Given the description of an element on the screen output the (x, y) to click on. 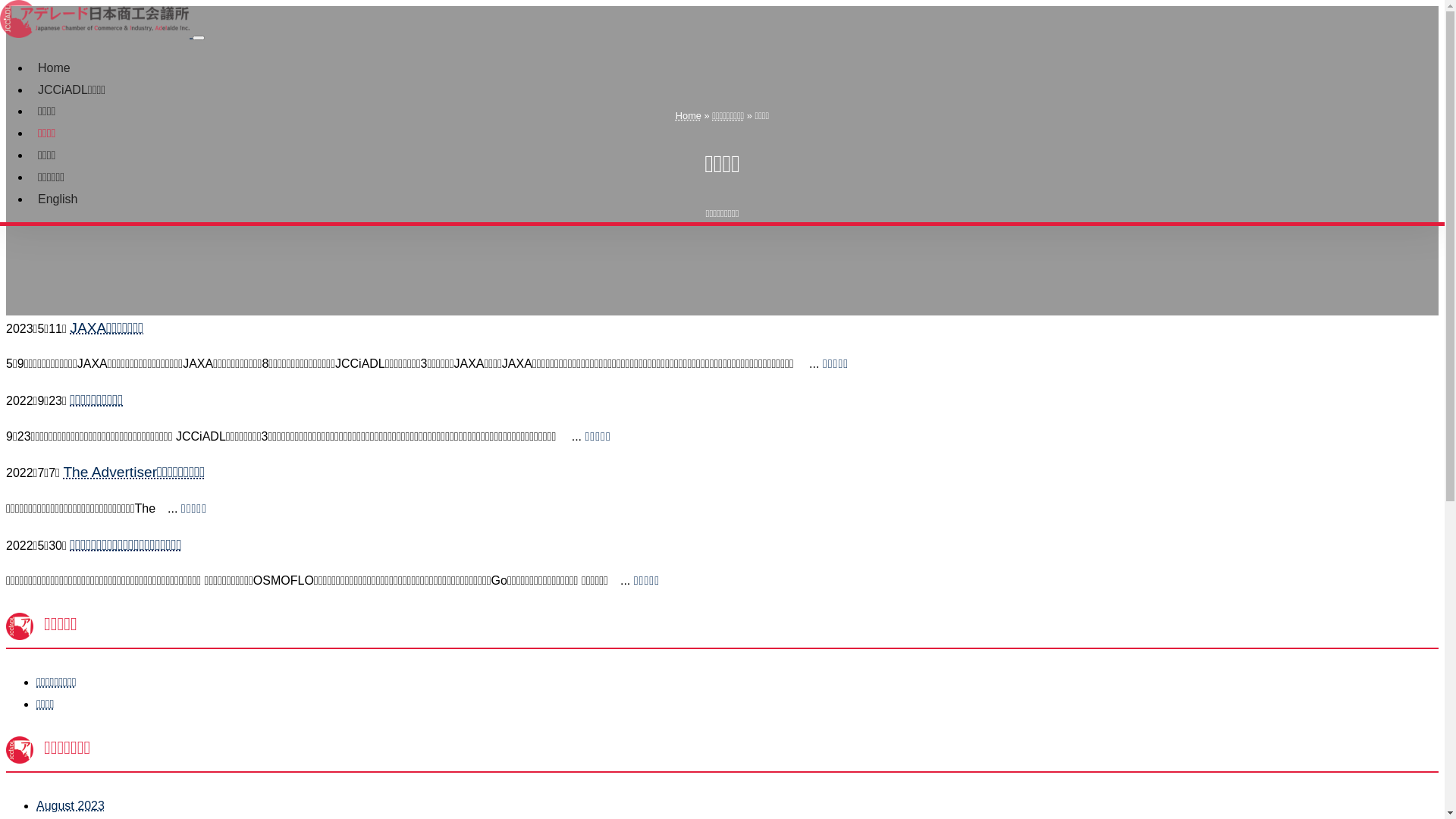
Home Element type: text (688, 115)
English Element type: text (57, 198)
Home Element type: text (54, 67)
August 2023 Element type: text (70, 805)
